Given the description of an element on the screen output the (x, y) to click on. 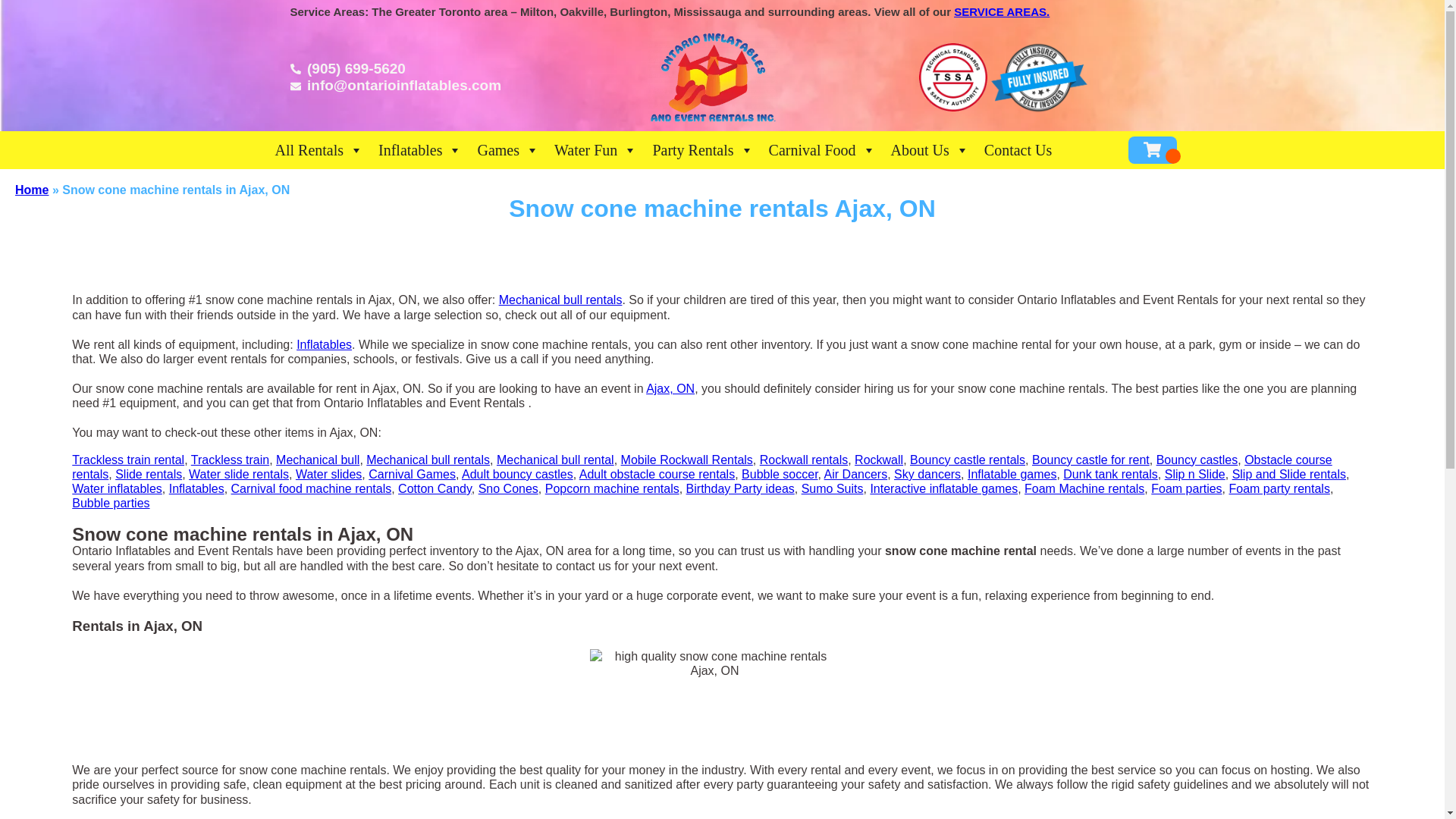
All Rentals (318, 150)
Ontario Inflatables and Event Rentals -Service Areas (999, 11)
SERVICE AREAS (999, 11)
